Given the description of an element on the screen output the (x, y) to click on. 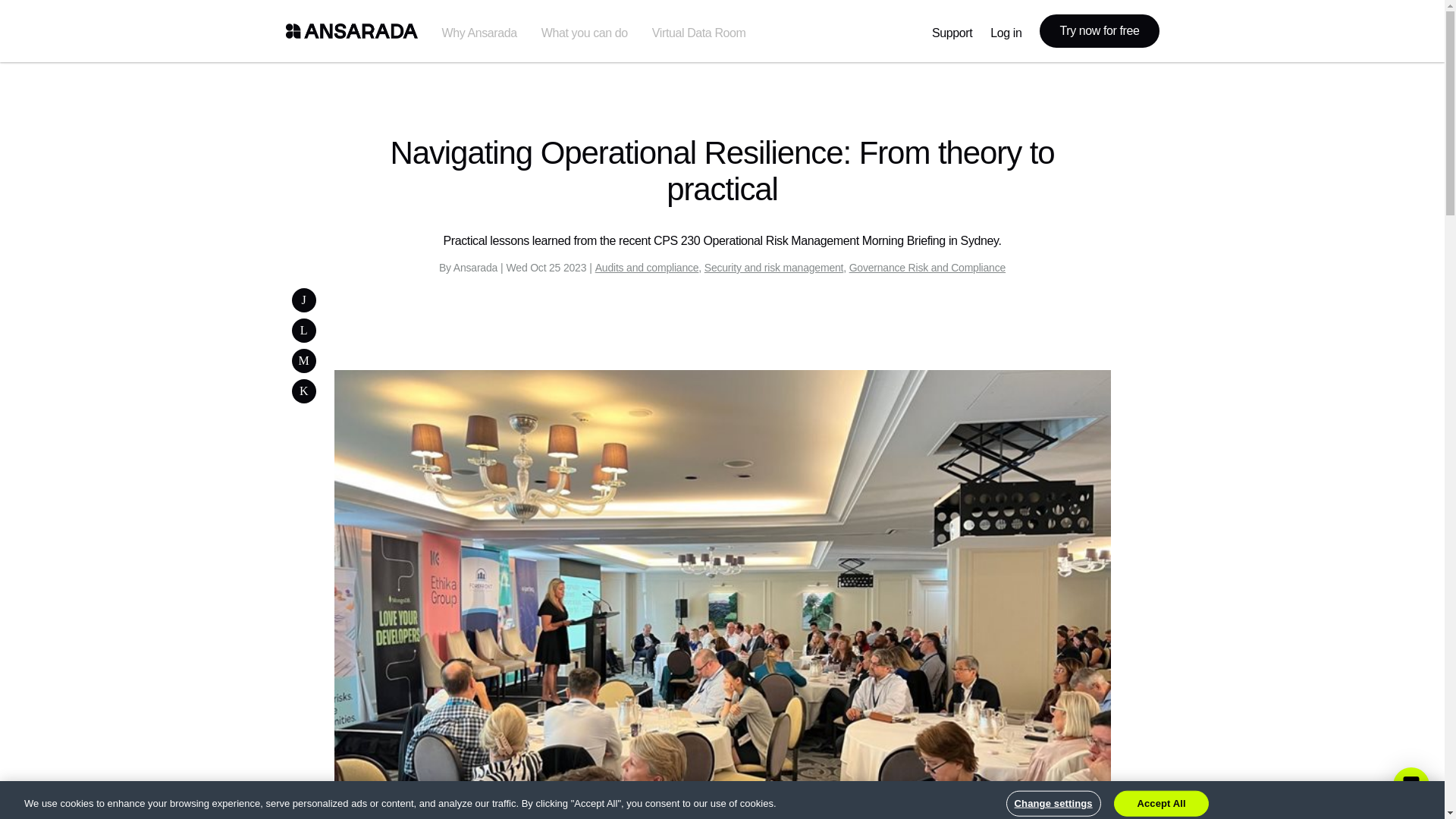
Why Ansarada (478, 31)
What you can do (584, 31)
